Given the description of an element on the screen output the (x, y) to click on. 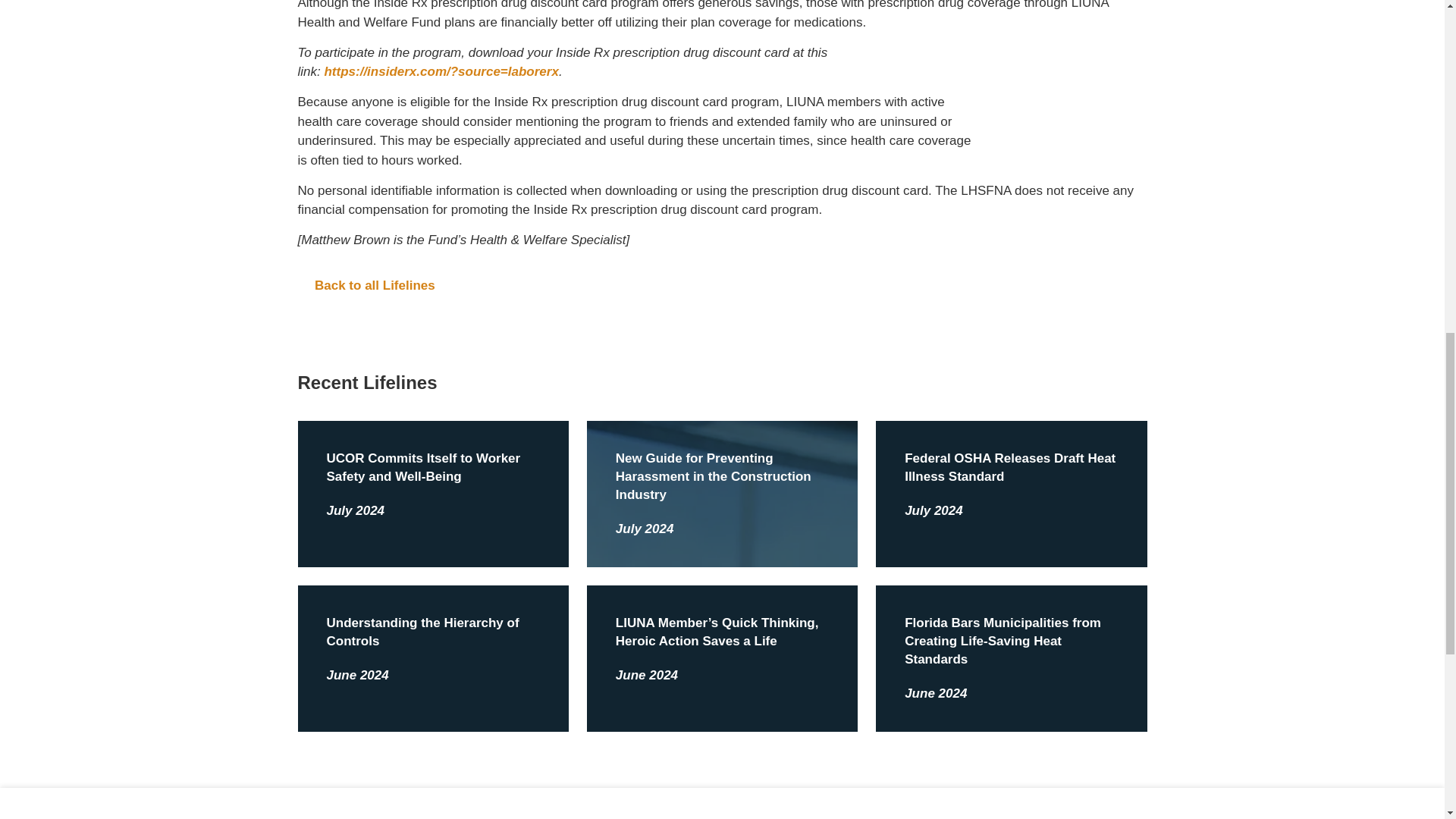
UCOR Commits Itself to Worker Safety and Well-Being (422, 467)
Understanding the Hierarchy of Controls (422, 631)
Federal OSHA Releases Draft Heat Illness Standard (1009, 467)
Back to all Lifelines (722, 285)
